Given the description of an element on the screen output the (x, y) to click on. 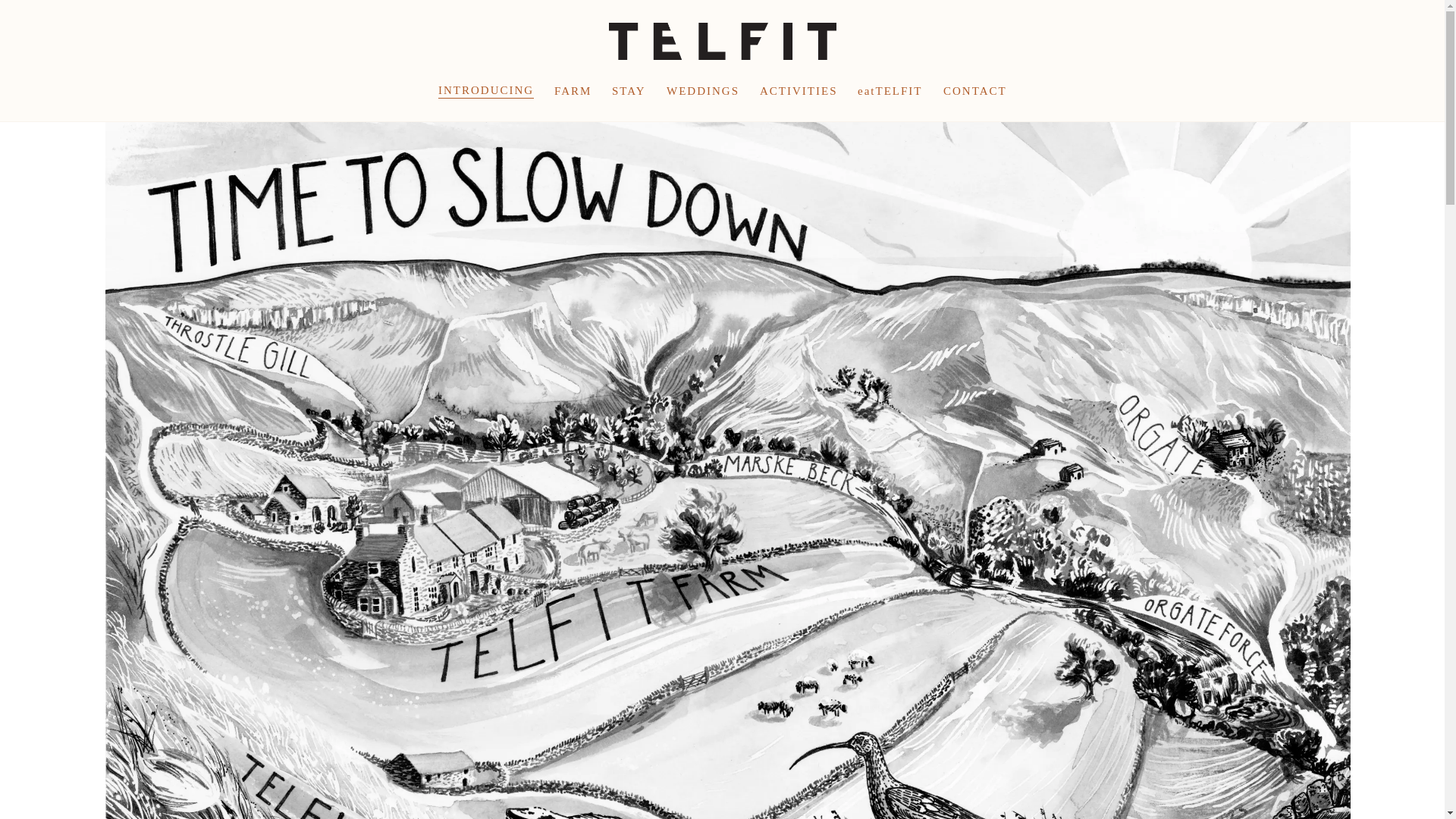
CONTACT (975, 90)
INTRODUCING (486, 90)
STAY (628, 90)
ACTIVITIES (799, 90)
FARM (572, 90)
eatTELFIT (889, 90)
WEDDINGS (702, 90)
